Given the description of an element on the screen output the (x, y) to click on. 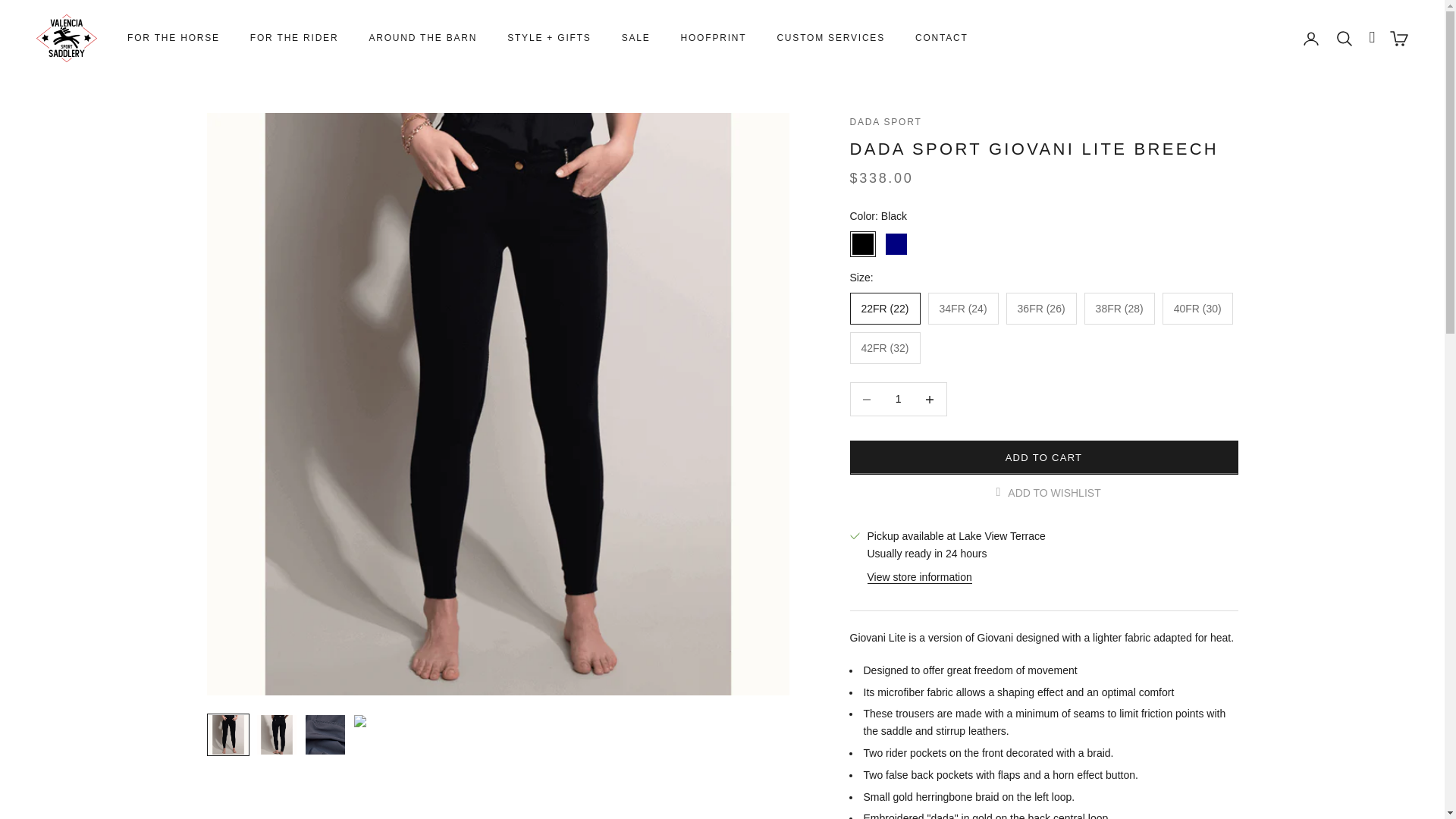
Valencia Sport Saddlery (66, 38)
1 (898, 399)
